Given the description of an element on the screen output the (x, y) to click on. 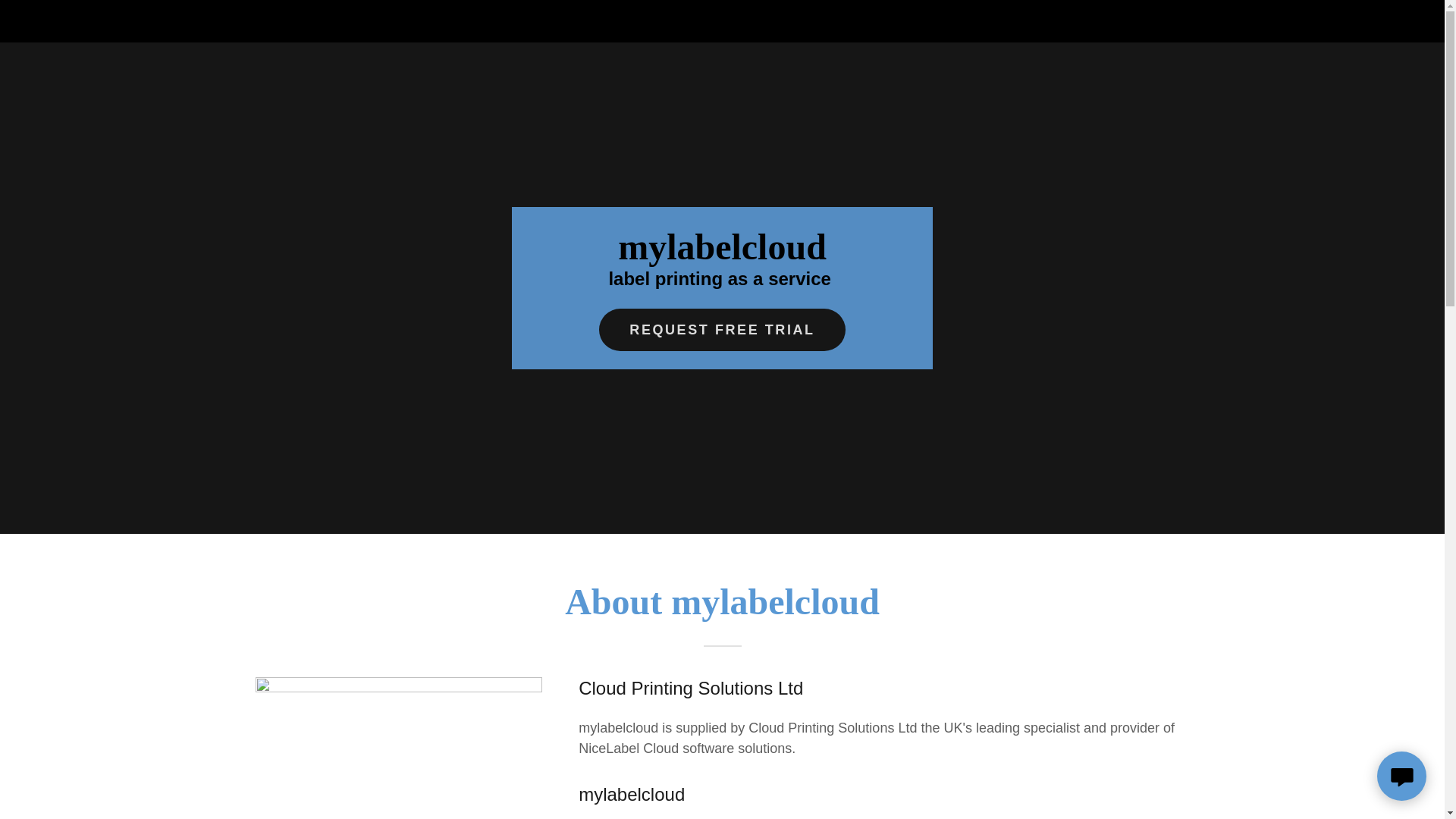
REQUEST FREE TRIAL (721, 329)
